Given the description of an element on the screen output the (x, y) to click on. 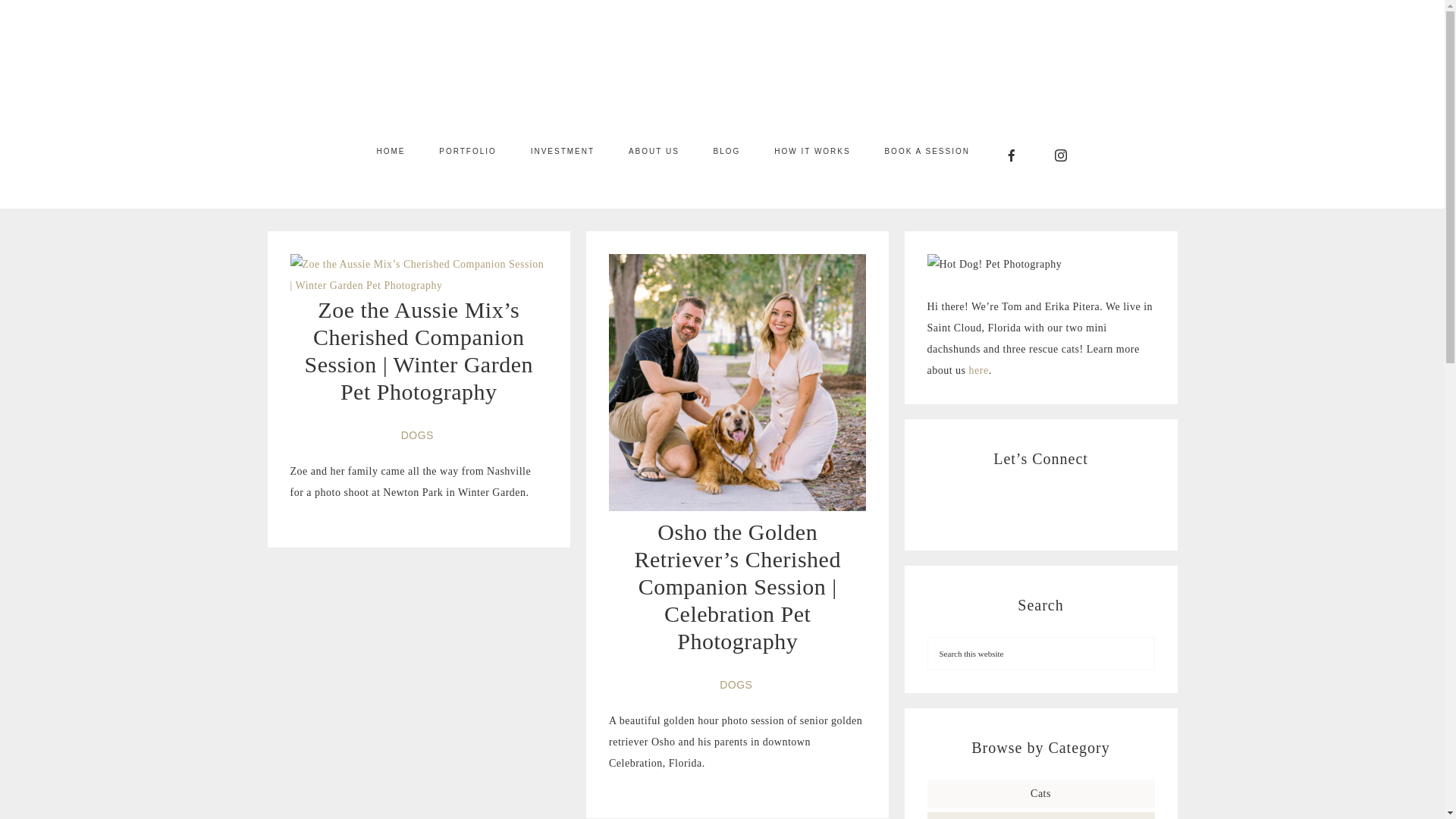
DOGS (418, 435)
INVESTMENT (562, 151)
DOGS (737, 684)
HOT DOG! PET PHOTOGRAPHY (722, 65)
BOOK A SESSION (926, 151)
HOW IT WORKS (811, 151)
BLOG (726, 151)
HOME (390, 151)
